Given the description of an element on the screen output the (x, y) to click on. 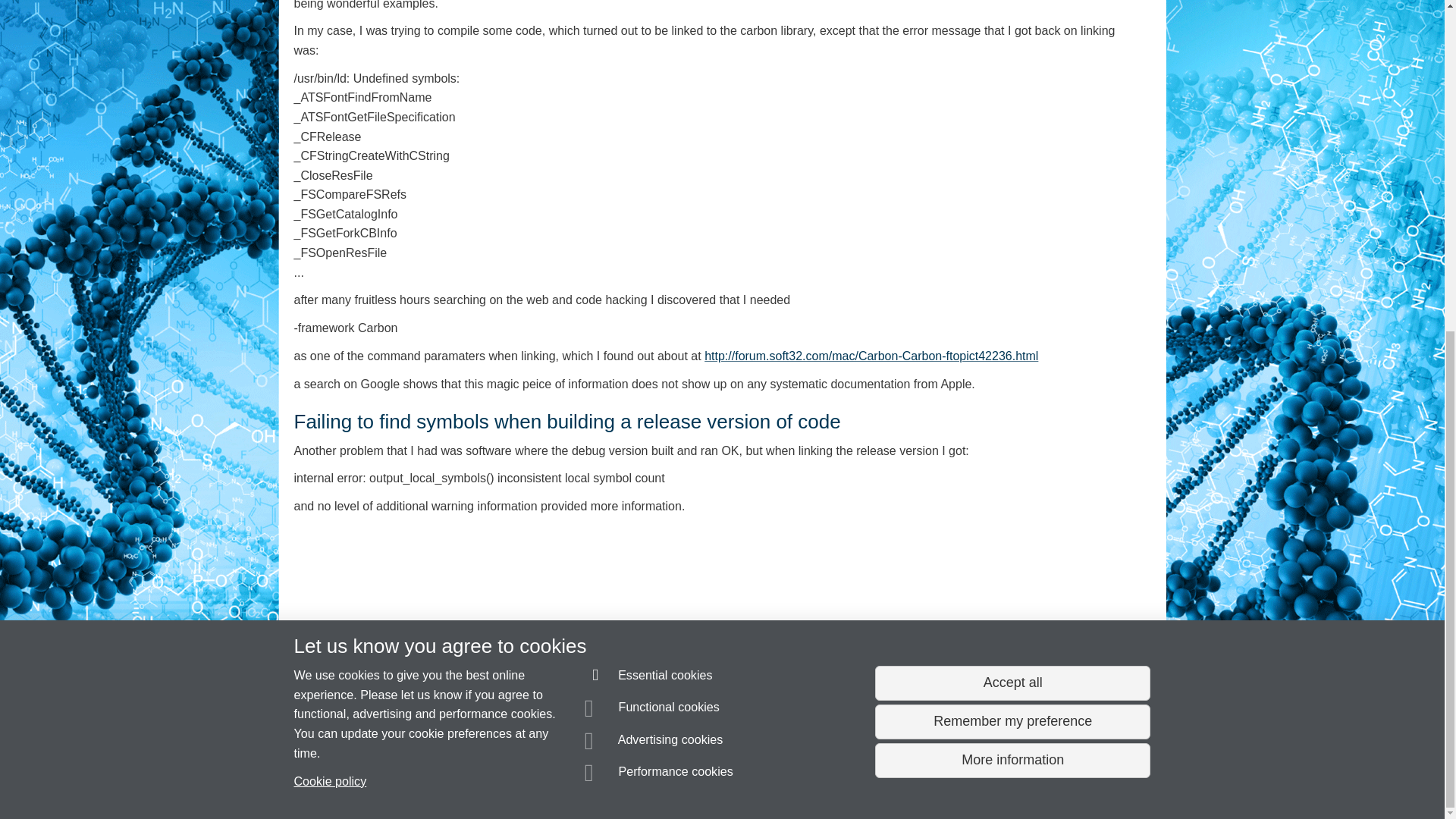
More information about SiteBuilder (365, 780)
Send an email to MAS Resource (382, 751)
Accept all functional, advertising and performance cookies (1012, 133)
Essential cookies are always on (649, 127)
Information about cookies (467, 780)
Terms of use (708, 780)
Copyright Statement (514, 780)
